Given the description of an element on the screen output the (x, y) to click on. 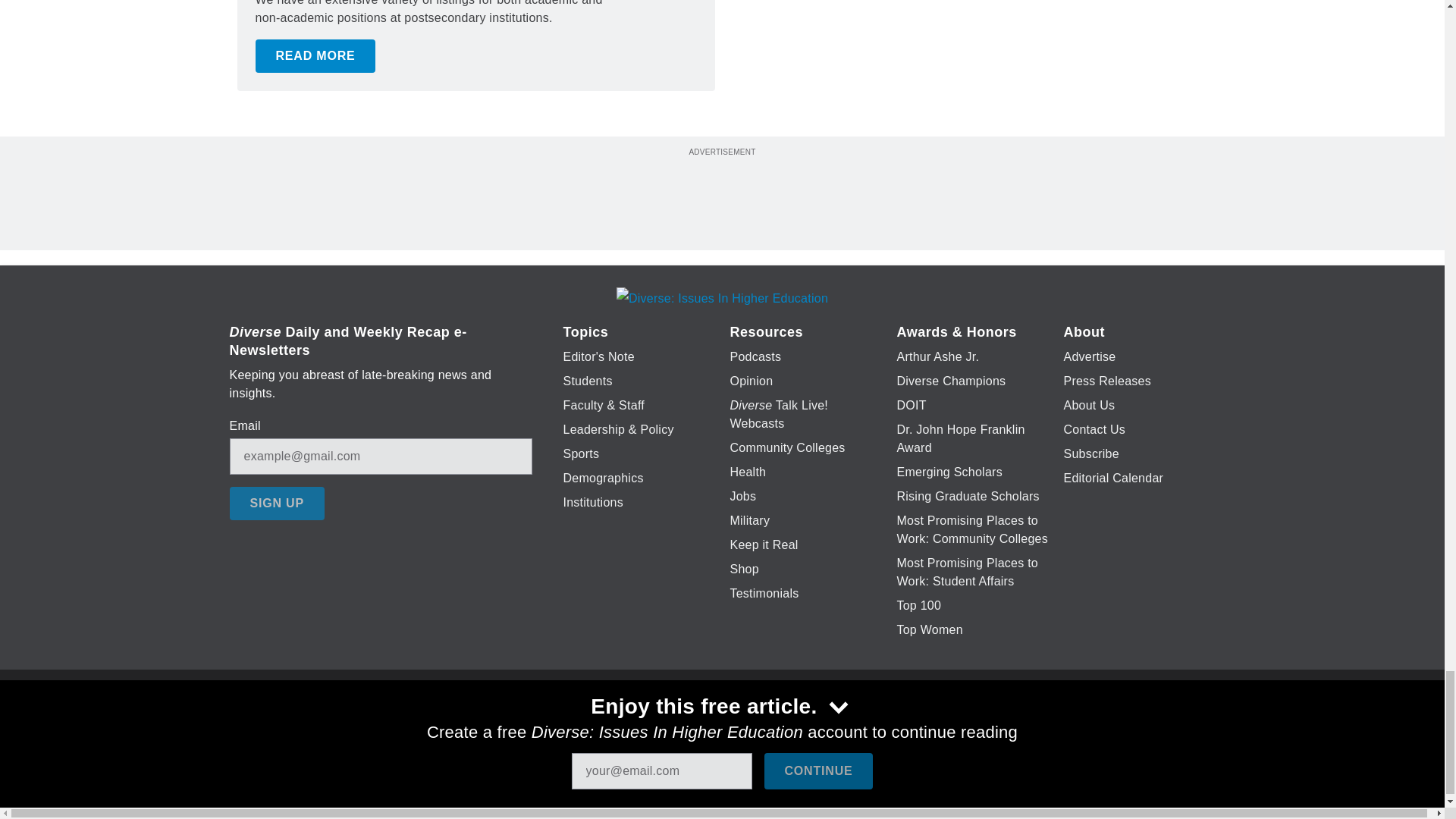
Instagram icon (796, 727)
Twitter X icon (674, 727)
Facebook icon (635, 727)
LinkedIn icon (718, 727)
YouTube icon (757, 727)
